Given the description of an element on the screen output the (x, y) to click on. 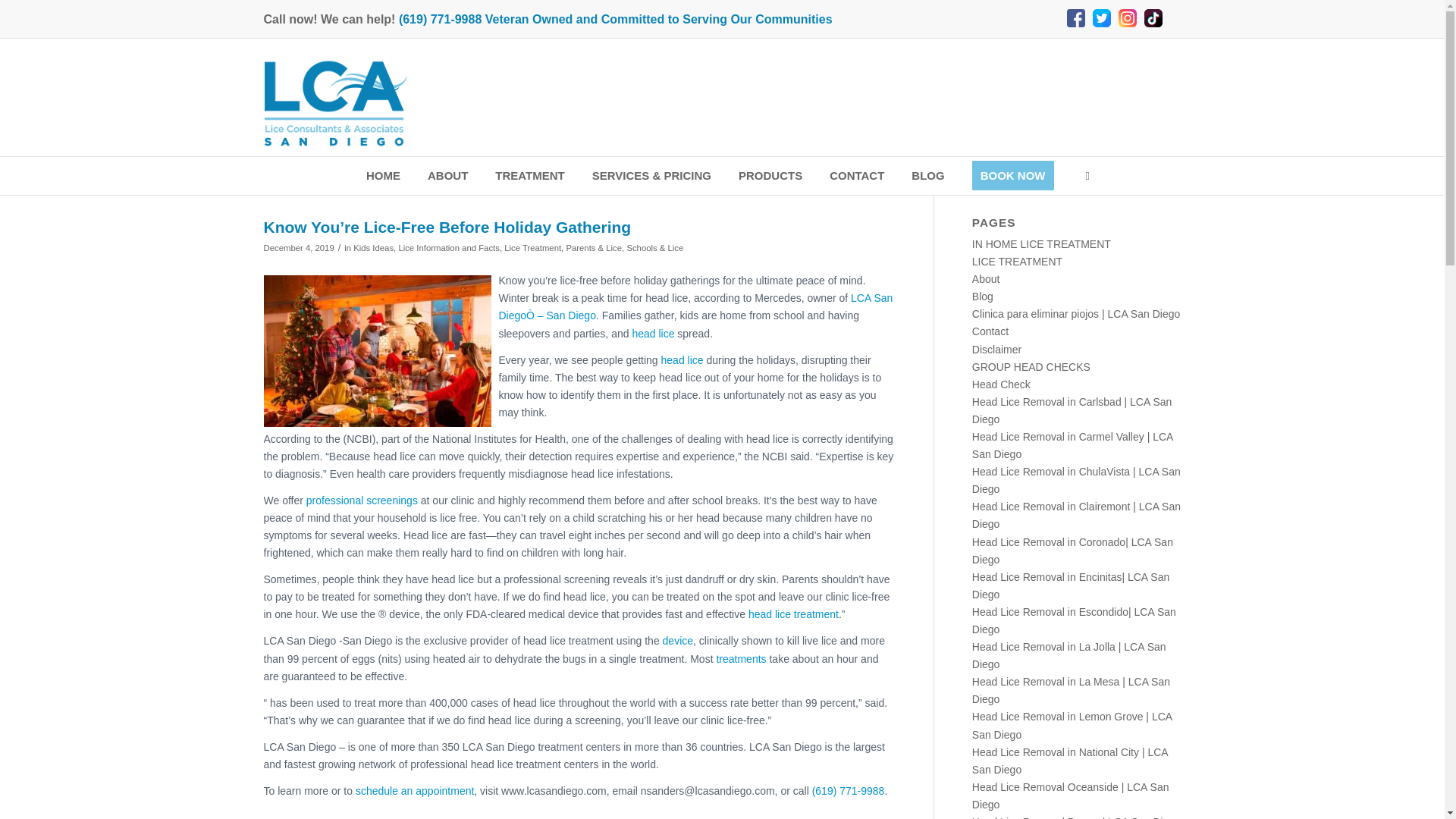
professional screenings (361, 500)
schedule an appointment (414, 790)
device (677, 640)
PRODUCTS (769, 175)
head lice treatment (793, 613)
head lice (652, 333)
BOOK NOW (1012, 175)
IN HOME LICE TREATMENT (1041, 244)
treatments (740, 658)
lca-logo (335, 103)
